Given the description of an element on the screen output the (x, y) to click on. 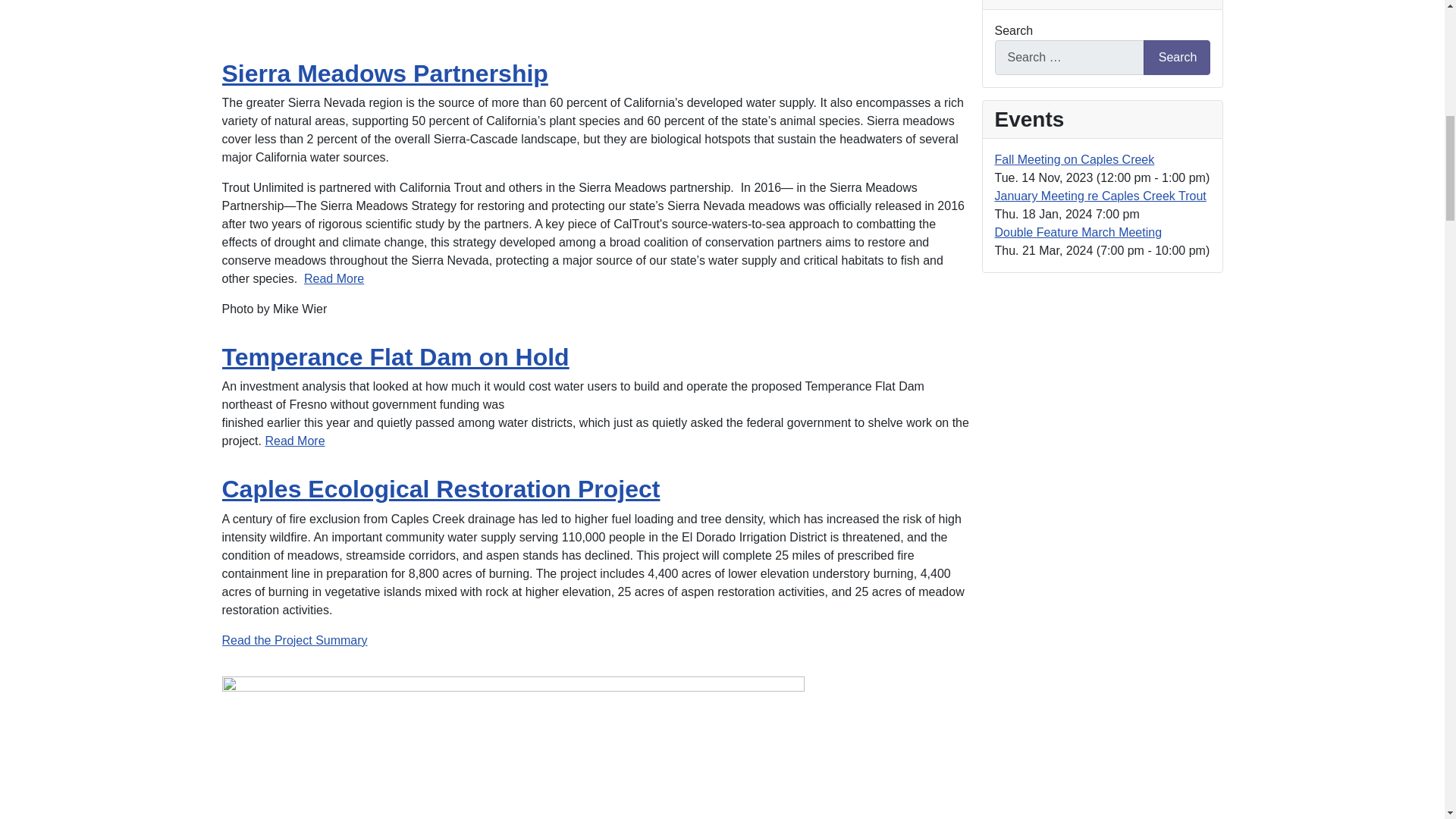
Read More (294, 440)
Double Feature March Meeting (1077, 232)
Read More (334, 278)
Read the Project Summary (293, 640)
Sierra Meadows Partnership (384, 72)
January Meeting re Caples Creek Trout (1100, 195)
Temperance Flat Dam on Hold (395, 357)
Fall Meeting on Caples Creek (1074, 159)
Caples Ecological Restoration Project (440, 488)
